Given the description of an element on the screen output the (x, y) to click on. 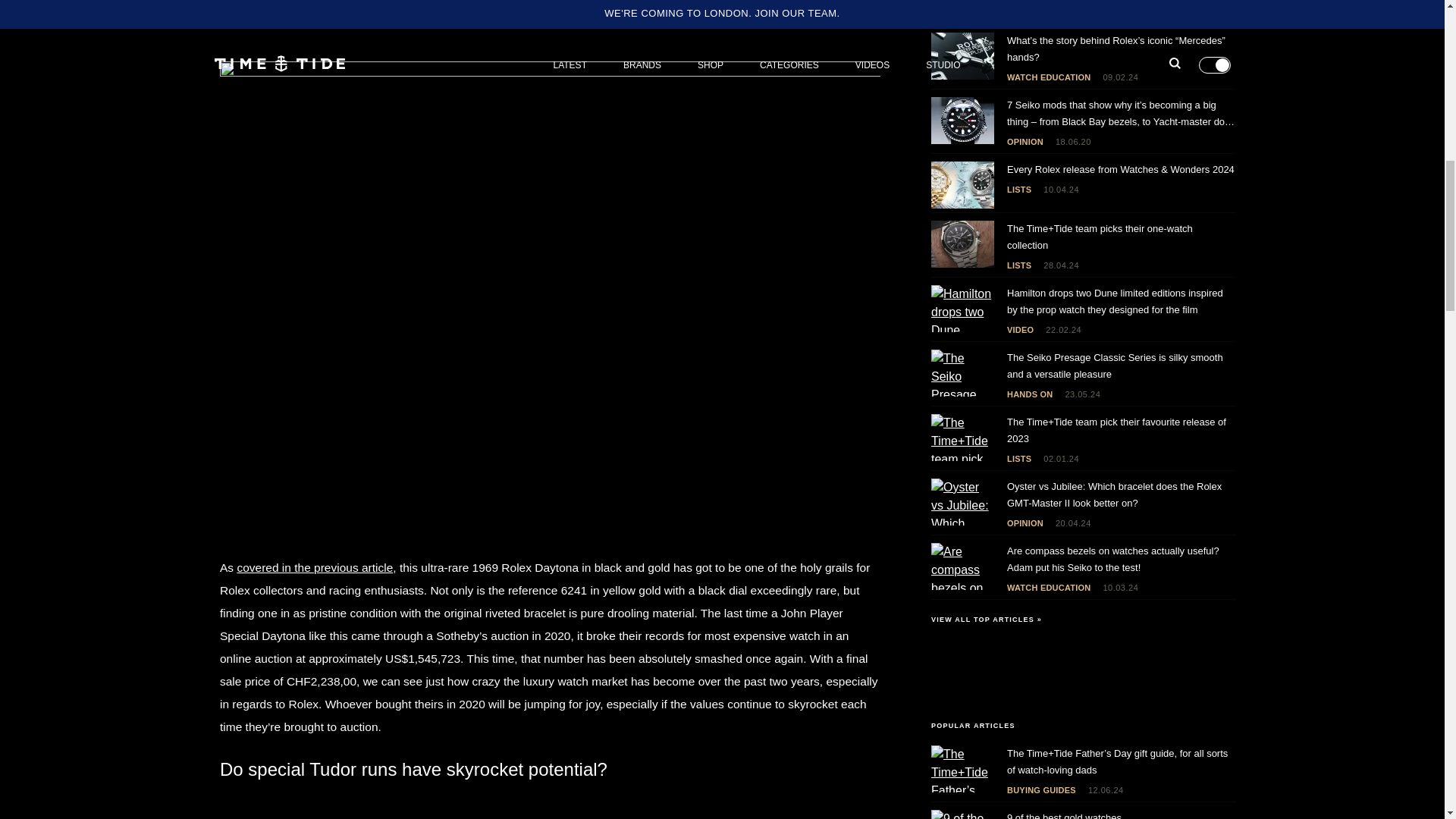
LISTS (1018, 12)
covered in the previous article (314, 567)
